Given the description of an element on the screen output the (x, y) to click on. 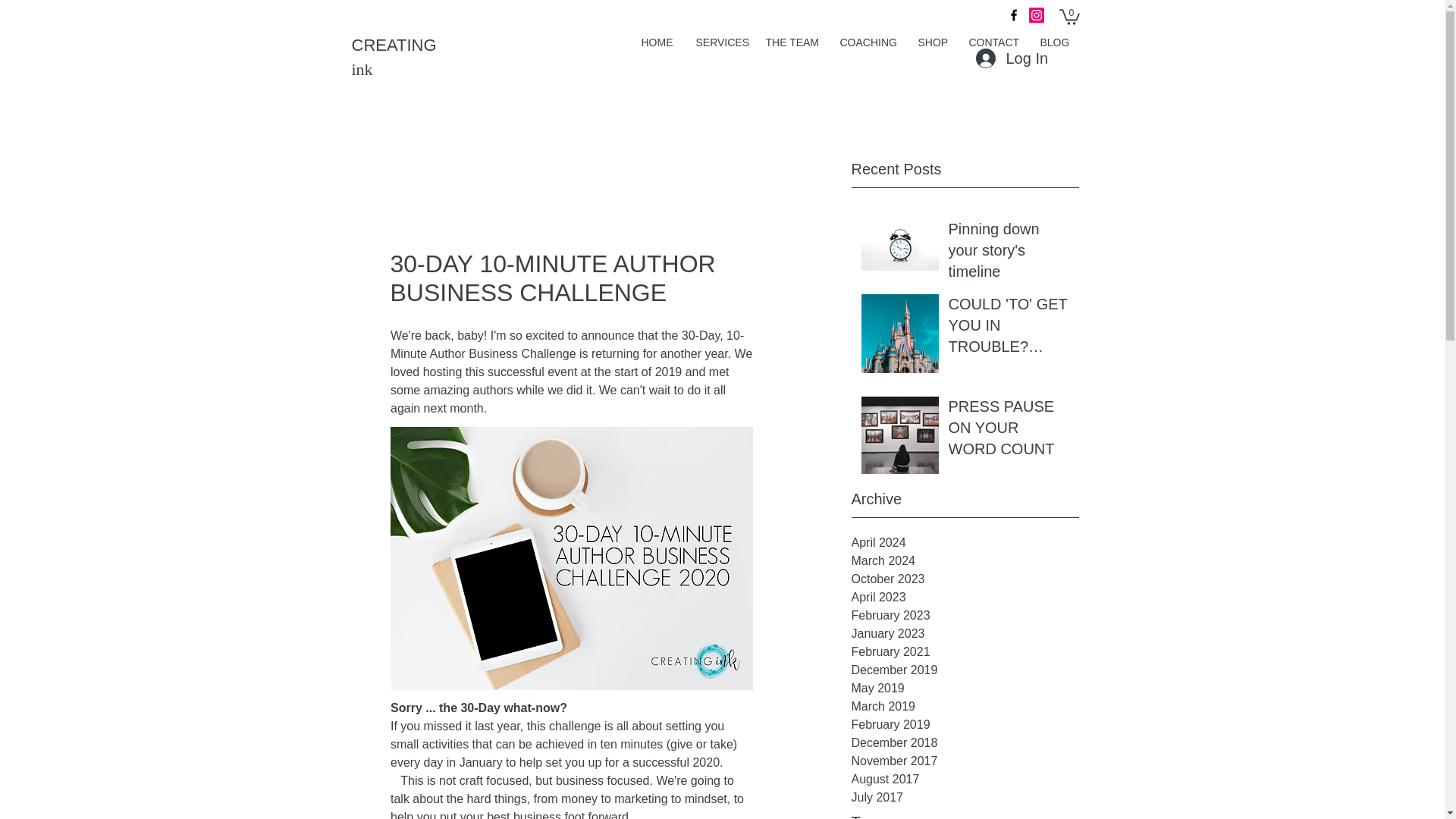
THE TEAM (791, 42)
February 2019 (964, 724)
July 2017 (964, 797)
0 (1068, 16)
April 2023 (964, 597)
February 2023 (964, 615)
BLOG (1052, 42)
HOME (656, 42)
December 2019 (964, 669)
Log In (1009, 58)
